Given the description of an element on the screen output the (x, y) to click on. 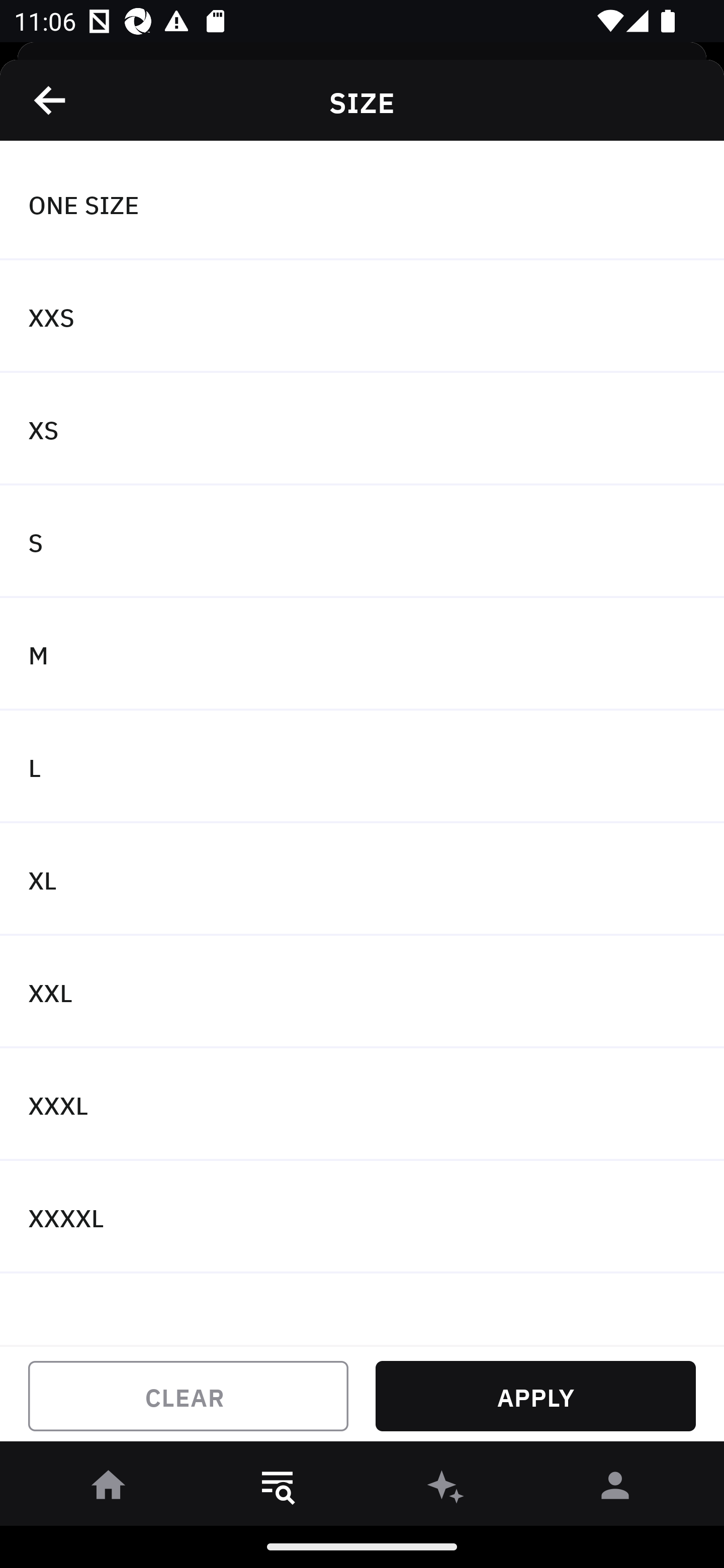
 (50, 100)
ONE SIZE (362, 203)
XXS (362, 316)
XS (362, 429)
S (362, 541)
M (362, 653)
L (362, 766)
XL (362, 879)
XXL (362, 992)
XXXL (362, 1104)
XXXXL (362, 1216)
CLEAR  (188, 1396)
APPLY (535, 1396)
󰋜 (108, 1488)
󱎸 (277, 1488)
󰫢 (446, 1488)
󰀄 (615, 1488)
